Given the description of an element on the screen output the (x, y) to click on. 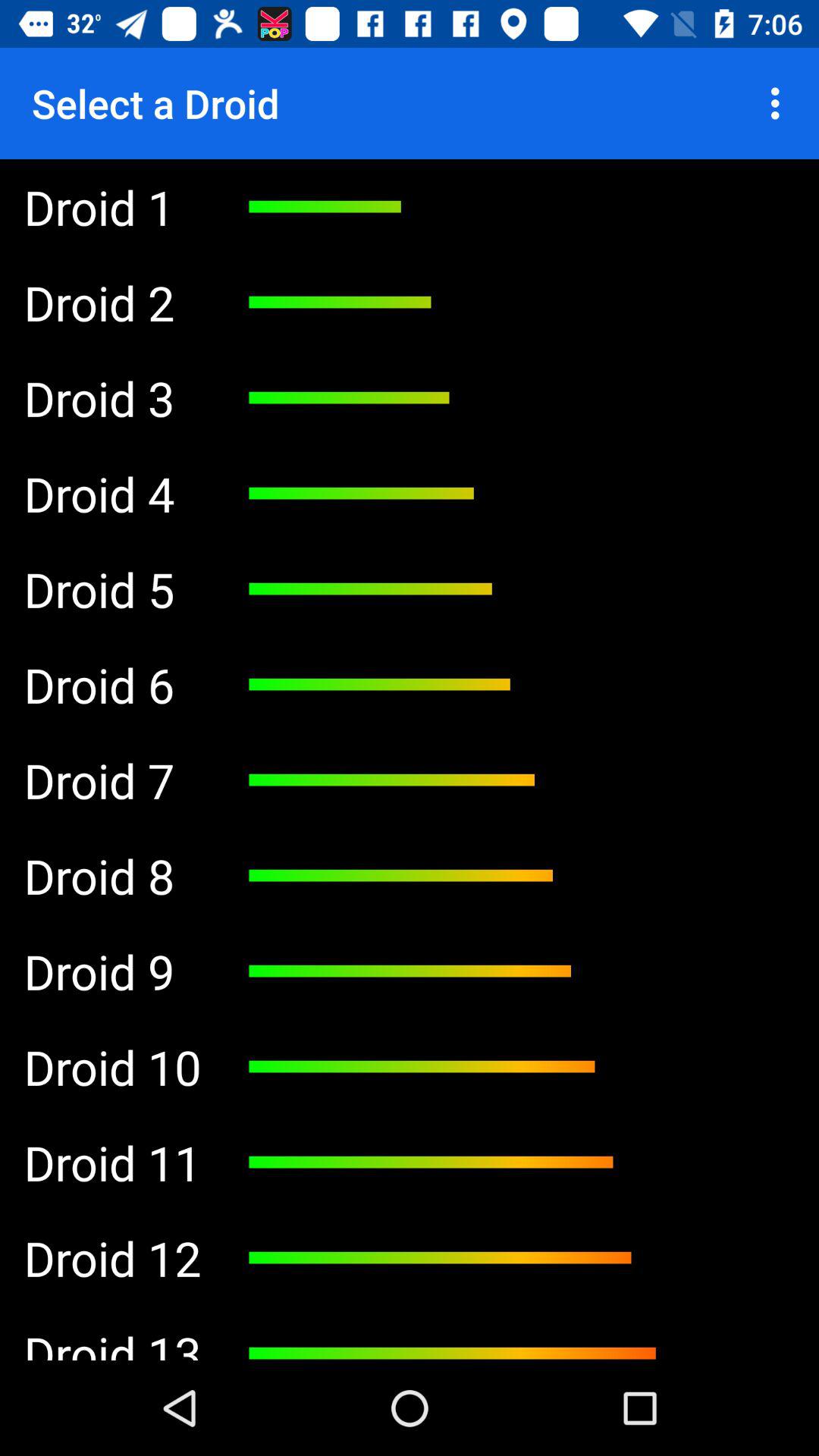
open the droid 7 app (112, 780)
